Given the description of an element on the screen output the (x, y) to click on. 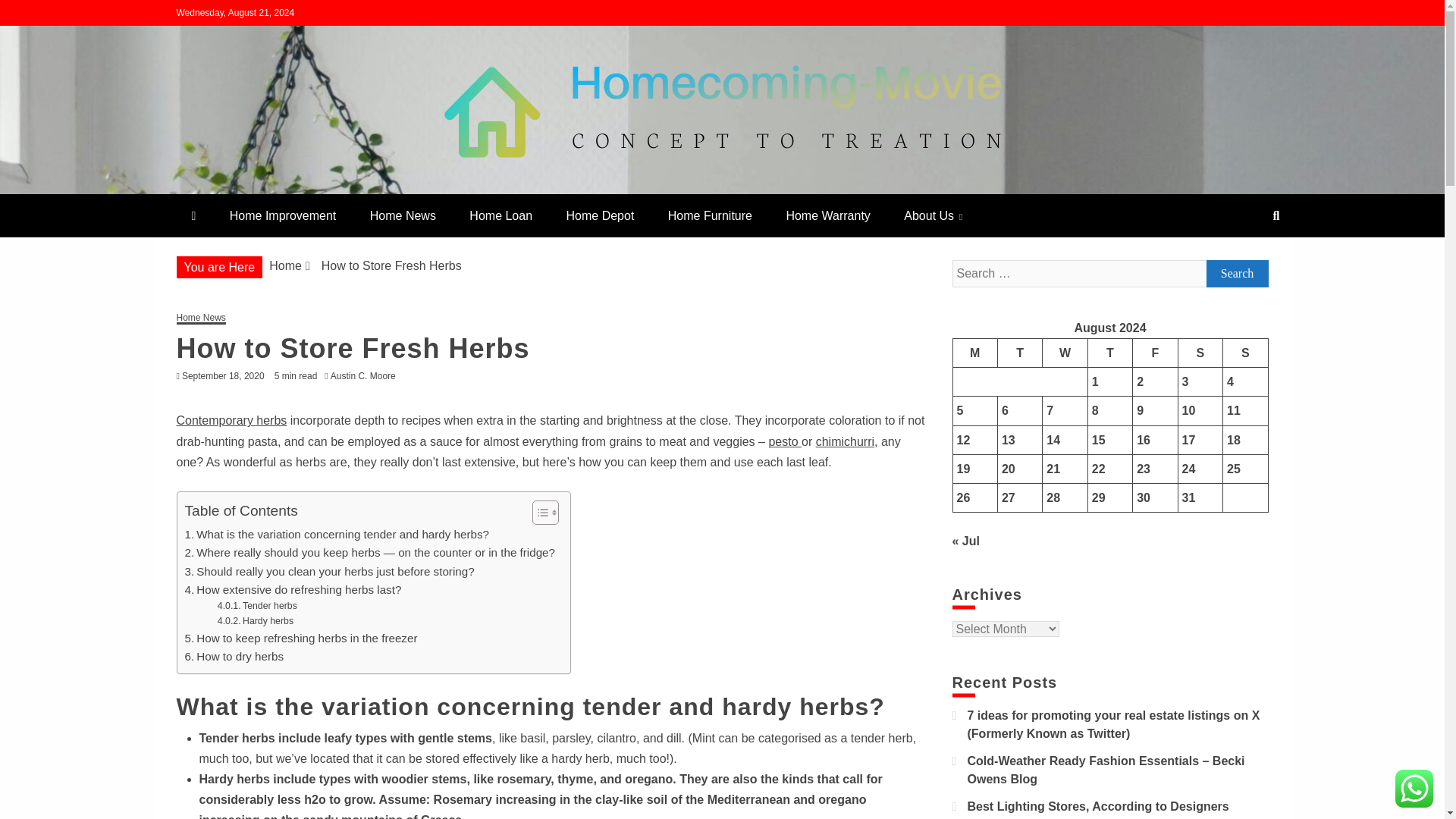
Hardy herbs (255, 621)
What is the variation concerning tender and hardy herbs? (336, 534)
What is the variation concerning tender and hardy herbs? (336, 534)
Tender herbs (256, 606)
Hardy herbs (255, 621)
Should really you clean your herbs just before storing? (329, 571)
How to keep refreshing herbs in the freezer (300, 638)
How extensive do refreshing herbs last? (292, 589)
How to dry herbs (233, 656)
How to dry herbs (233, 656)
